Given the description of an element on the screen output the (x, y) to click on. 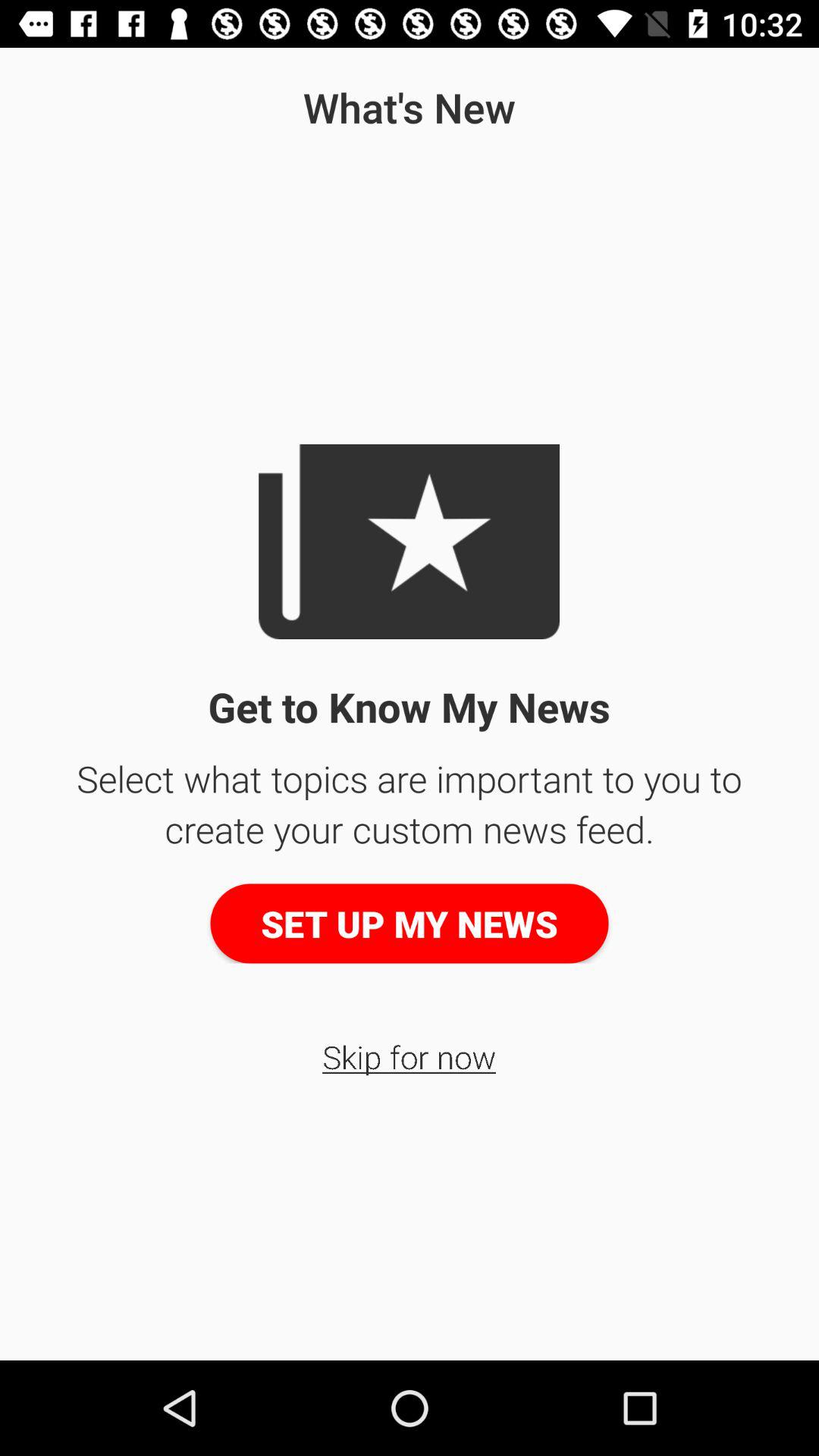
open the icon below select what topics (409, 923)
